Given the description of an element on the screen output the (x, y) to click on. 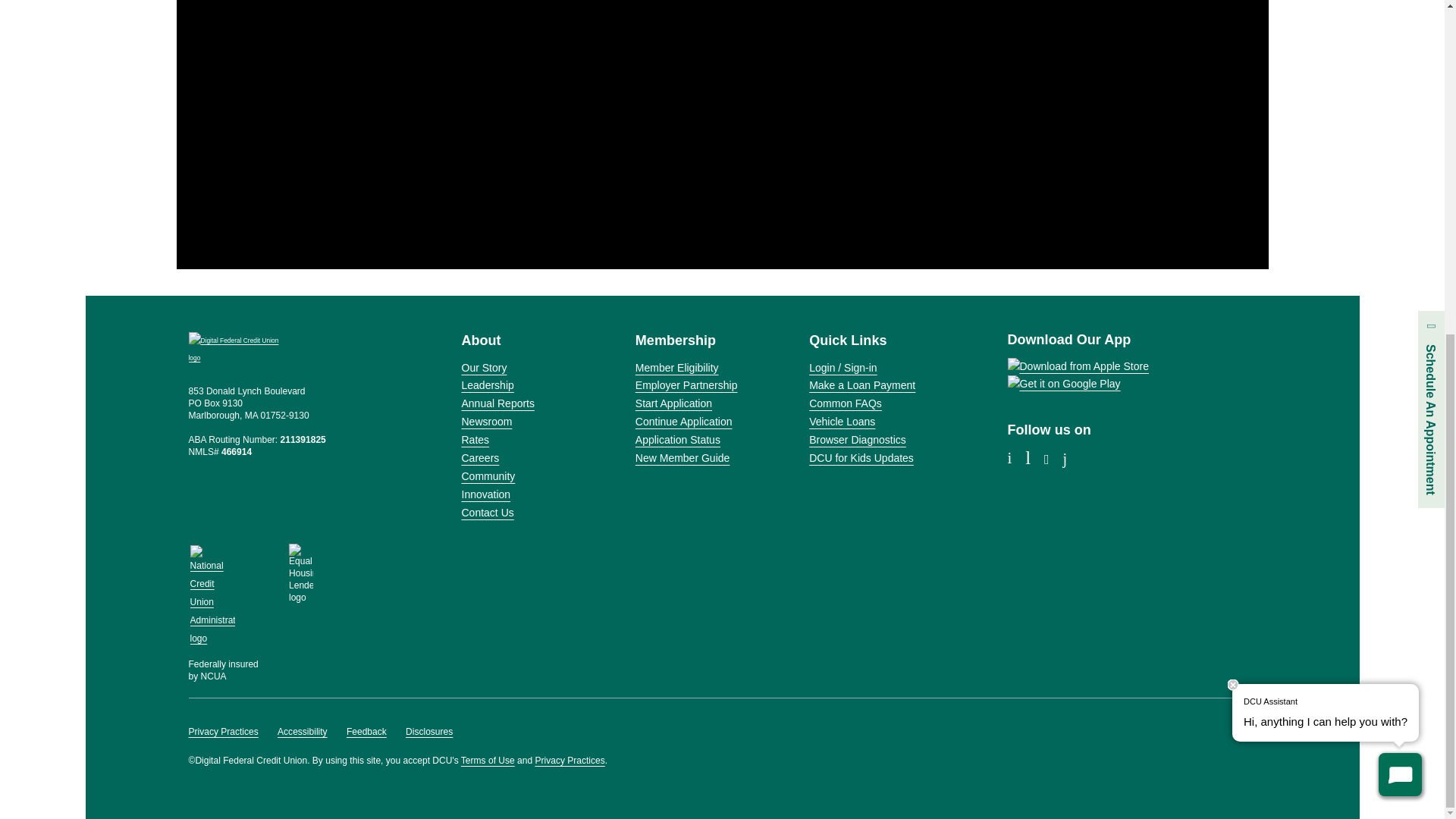
chat icon (1399, 216)
